Given the description of an element on the screen output the (x, y) to click on. 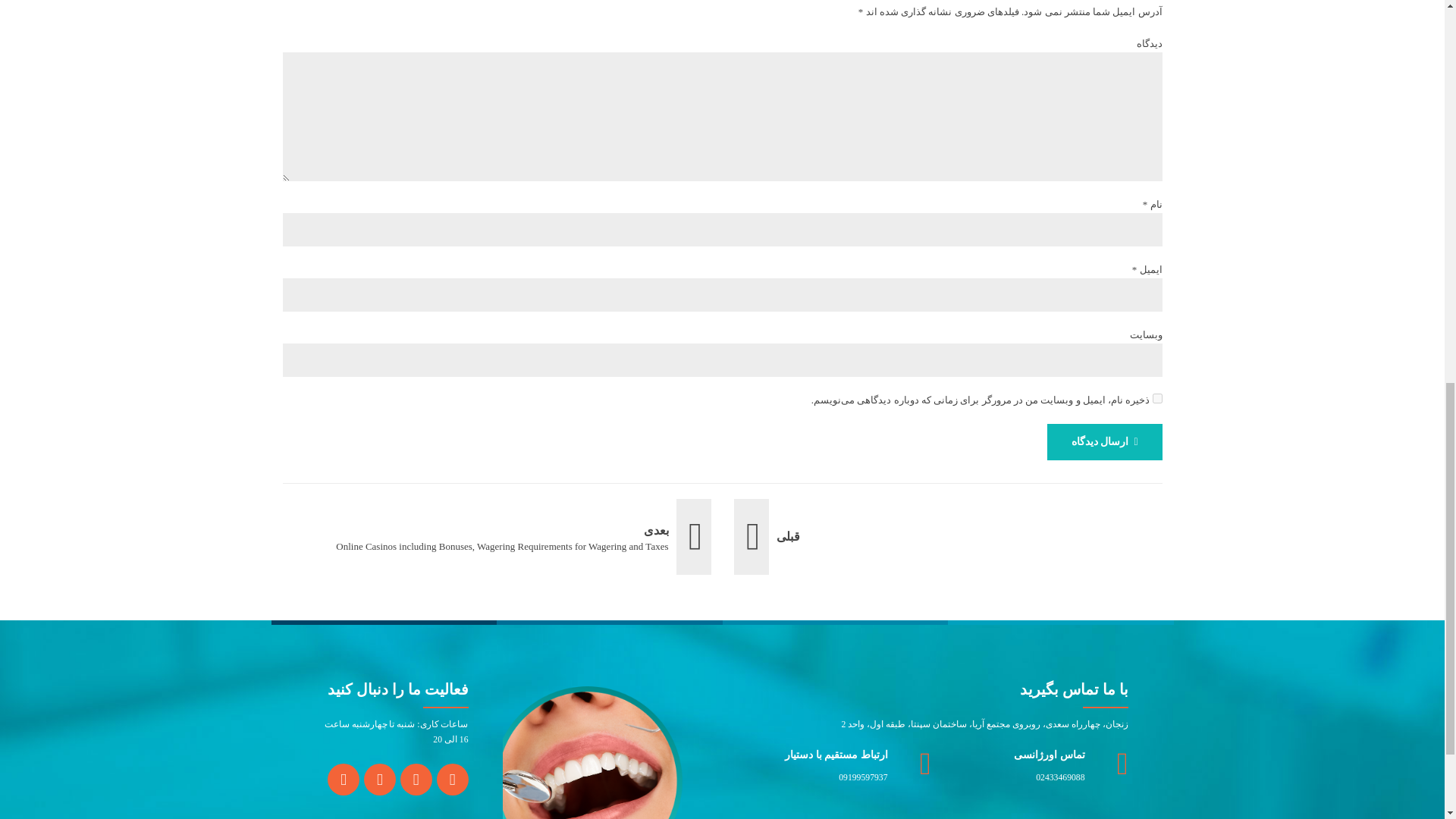
yes (1157, 398)
